Given the description of an element on the screen output the (x, y) to click on. 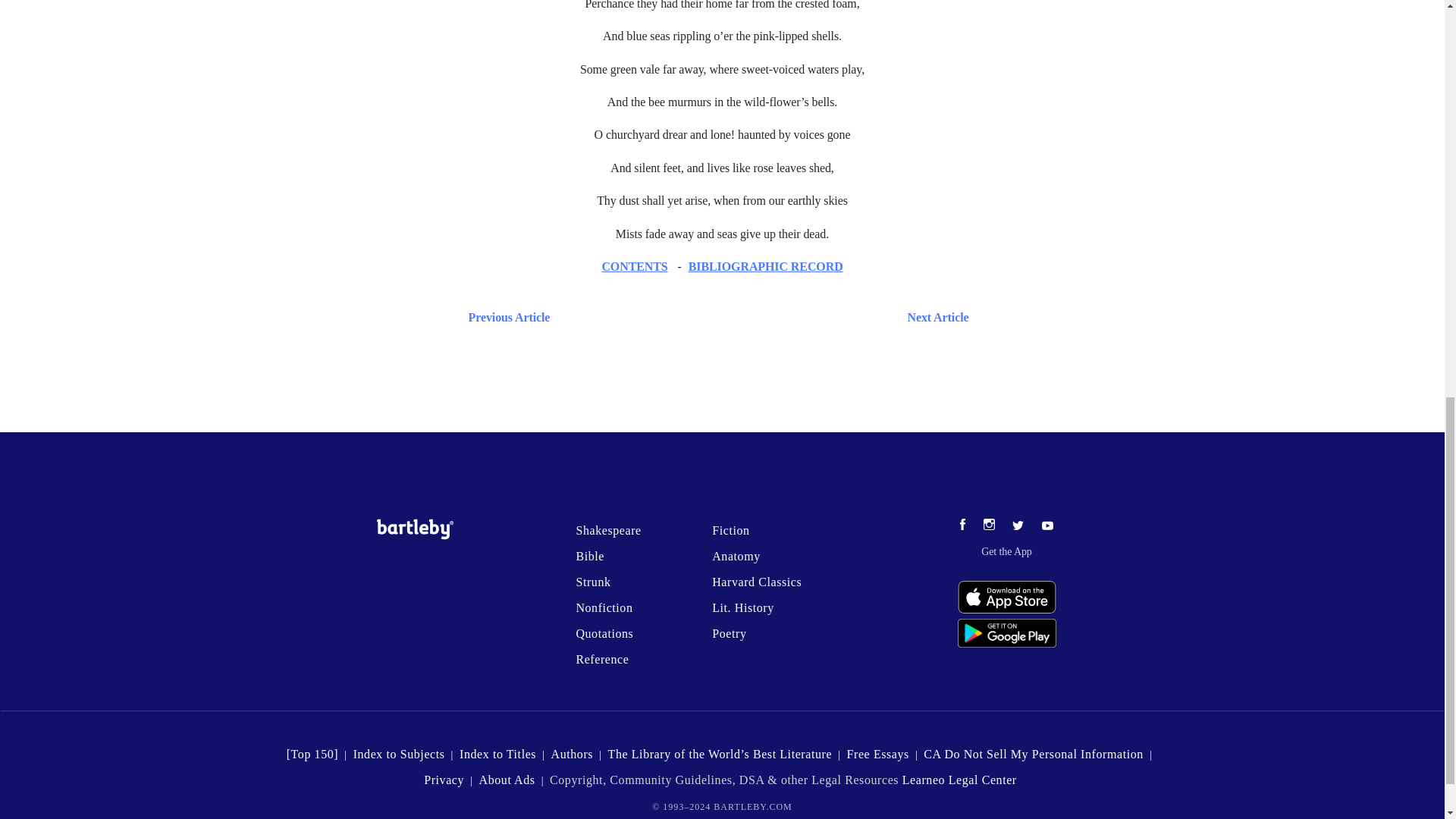
Bible (589, 555)
CONTENTS (633, 266)
Previous Article (505, 317)
Nonfiction (603, 607)
Fiction (730, 530)
Lit. History (742, 607)
BIBLIOGRAPHIC RECORD (765, 266)
Strunk (592, 581)
Poetry (728, 633)
Harvard Classics (756, 581)
Reference (601, 658)
Quotations (604, 633)
Anatomy (735, 555)
Shakespeare (607, 530)
Next Article (766, 317)
